Given the description of an element on the screen output the (x, y) to click on. 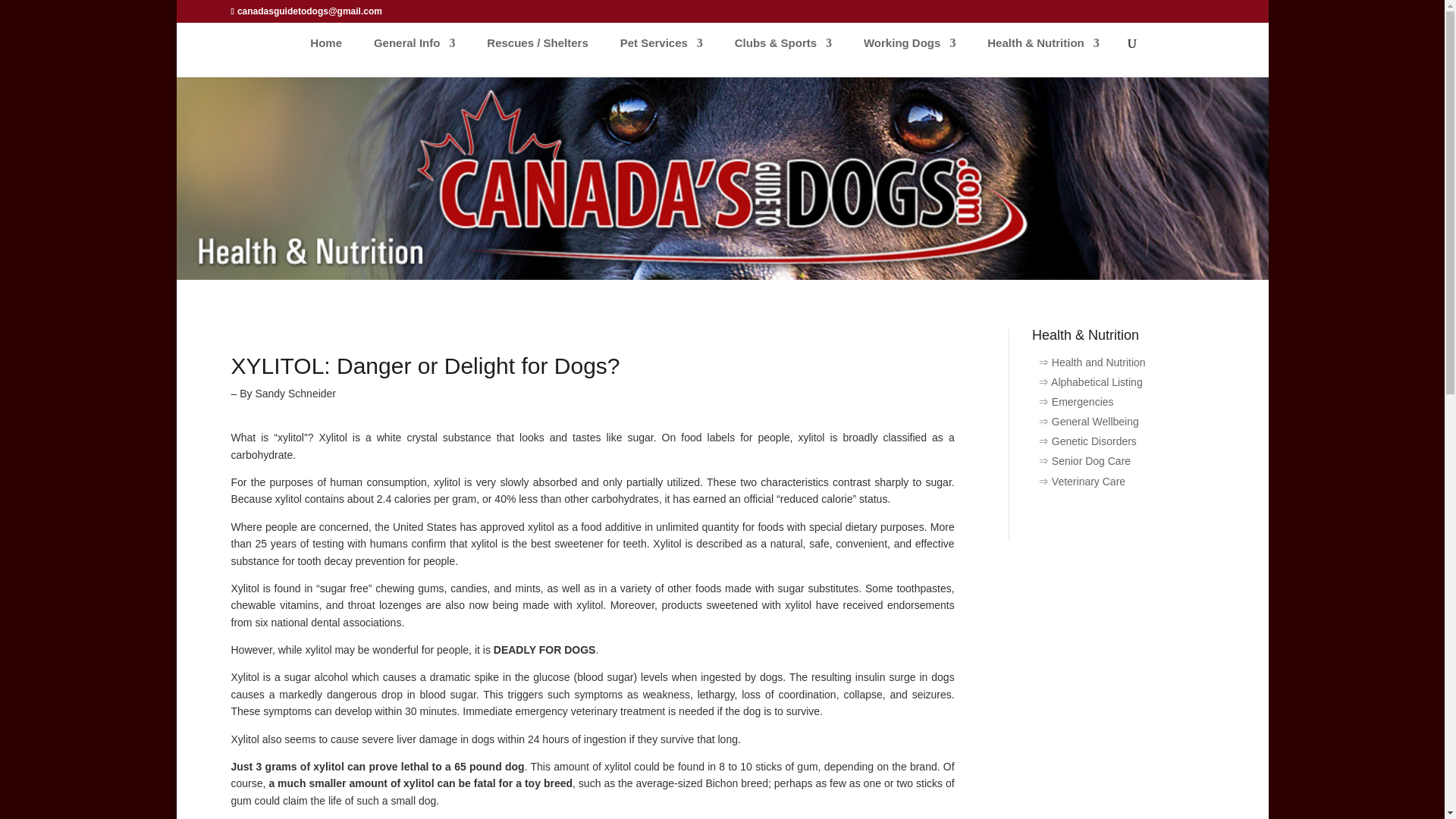
Working Dogs (909, 54)
Home (326, 54)
Pet Services (661, 54)
General Info (414, 54)
